Given the description of an element on the screen output the (x, y) to click on. 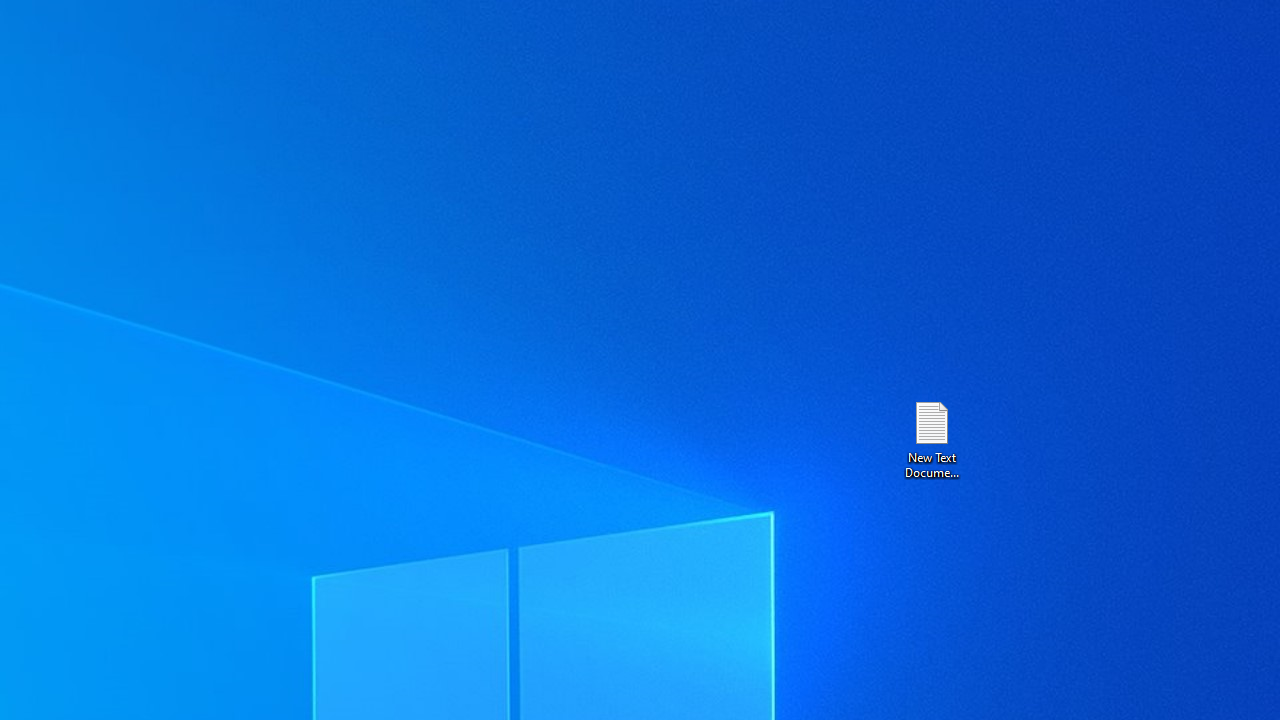
New Text Document (2) (931, 438)
